Given the description of an element on the screen output the (x, y) to click on. 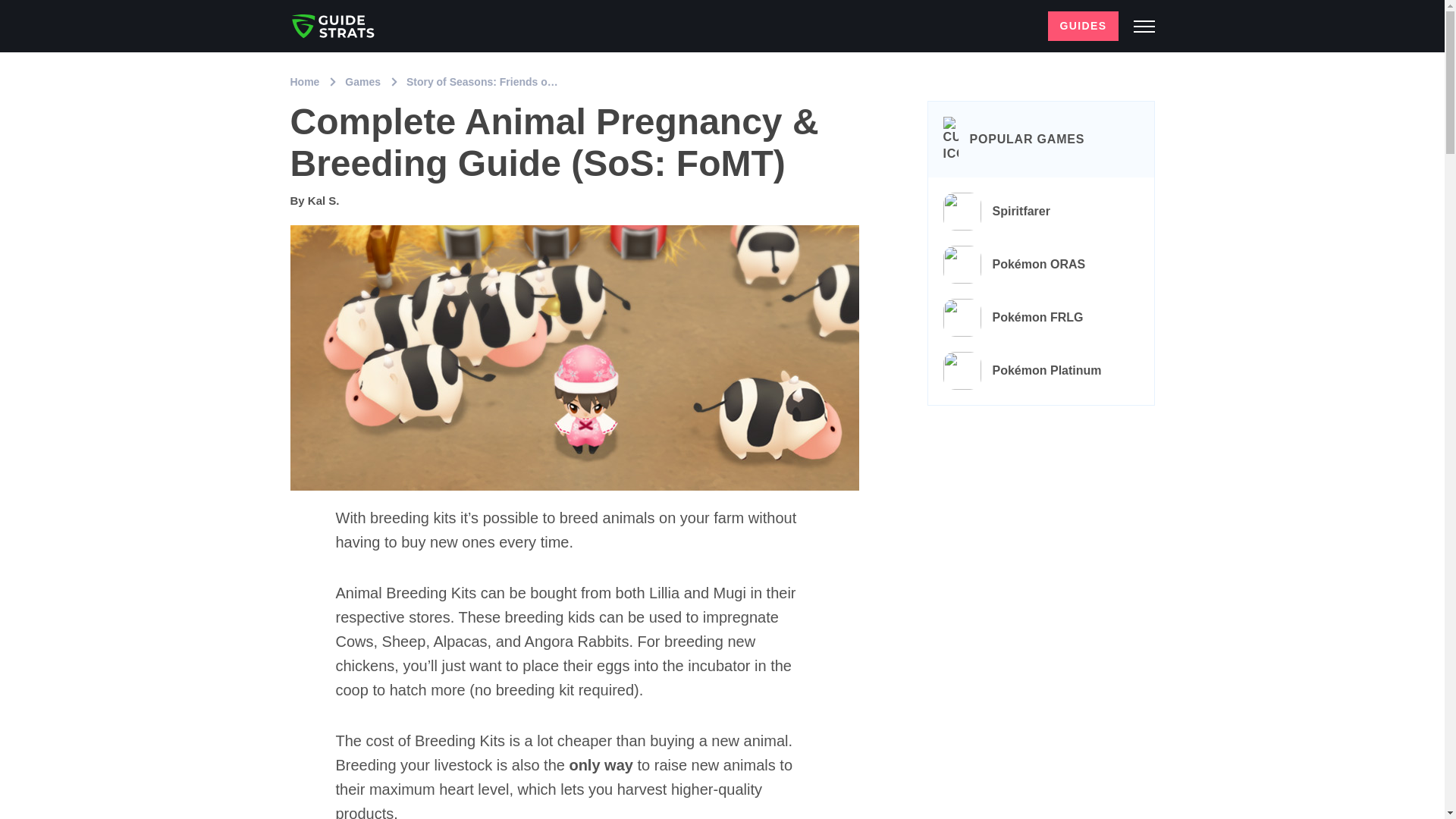
Story of Seasons: Friends of Mineral Town (513, 81)
Kal S. (323, 200)
Spiritfarer (1041, 211)
Home (305, 81)
Games (364, 81)
GUIDES (1083, 25)
